Given the description of an element on the screen output the (x, y) to click on. 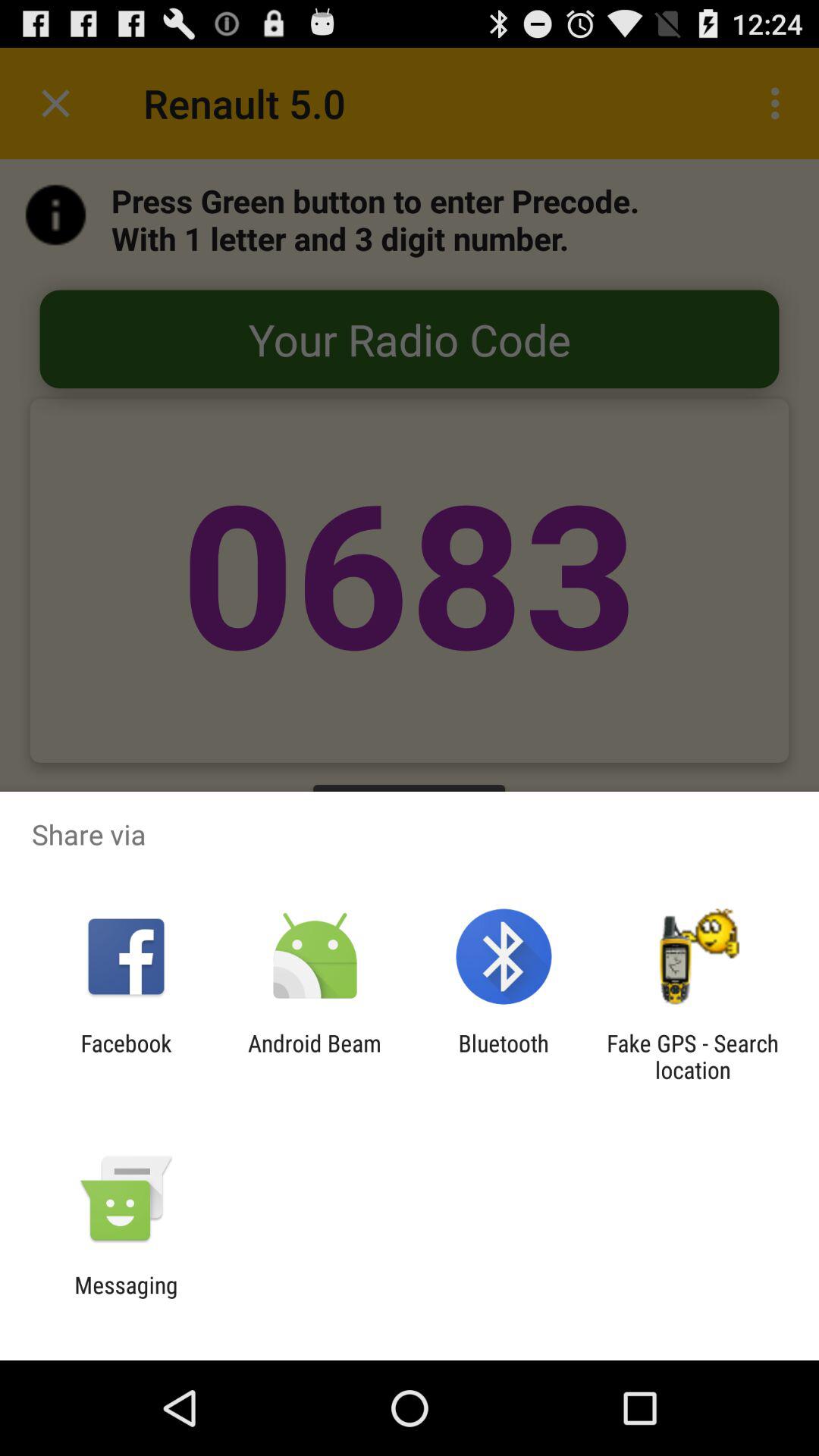
select the messaging (126, 1298)
